Given the description of an element on the screen output the (x, y) to click on. 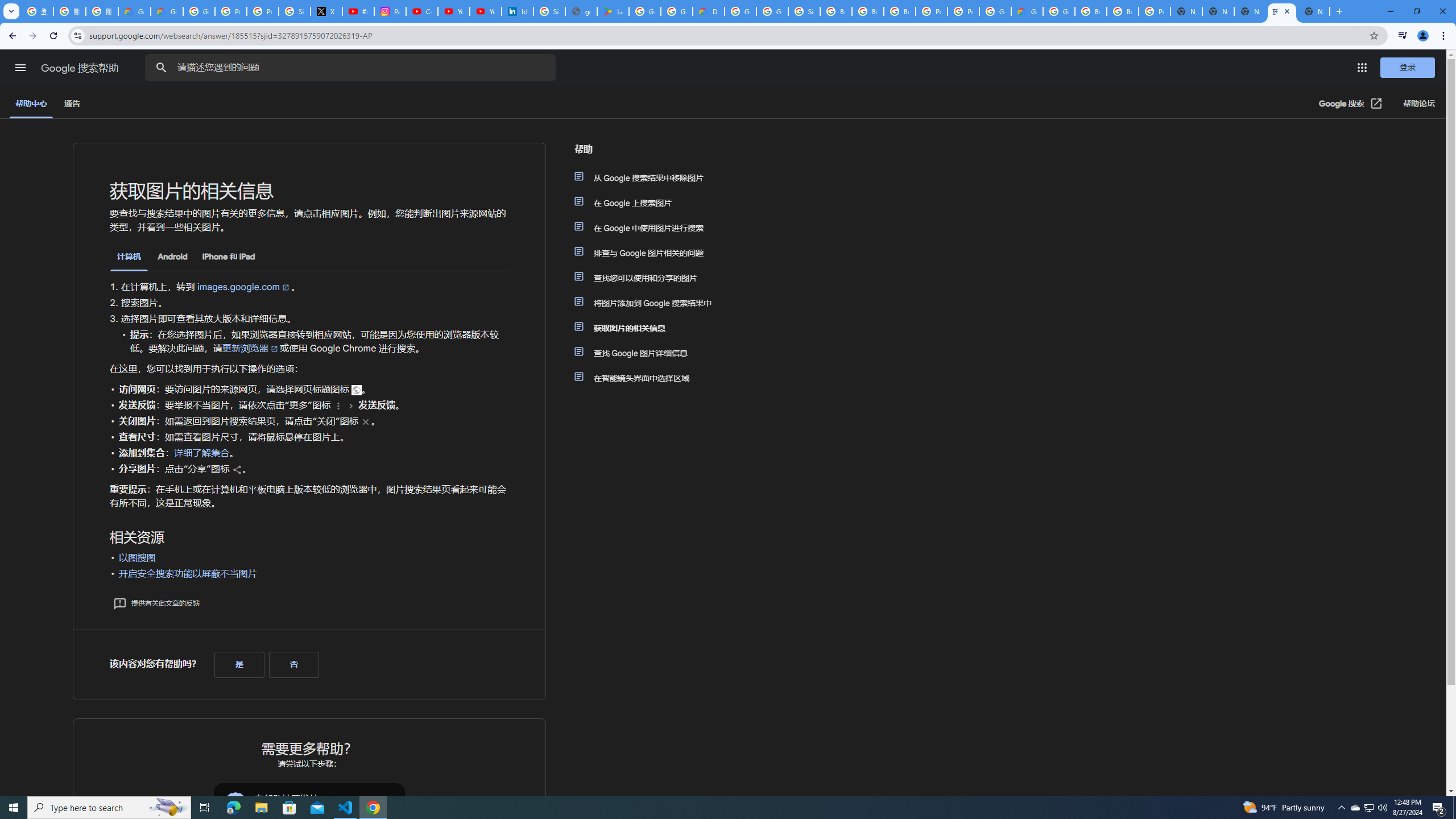
Browse Chrome as a guest - Computer - Google Chrome Help (1123, 11)
Last Shelter: Survival - Apps on Google Play (613, 11)
Google Cloud Platform (1059, 11)
Browse Chrome as a guest - Computer - Google Chrome Help (899, 11)
images.google.com (243, 287)
